Given the description of an element on the screen output the (x, y) to click on. 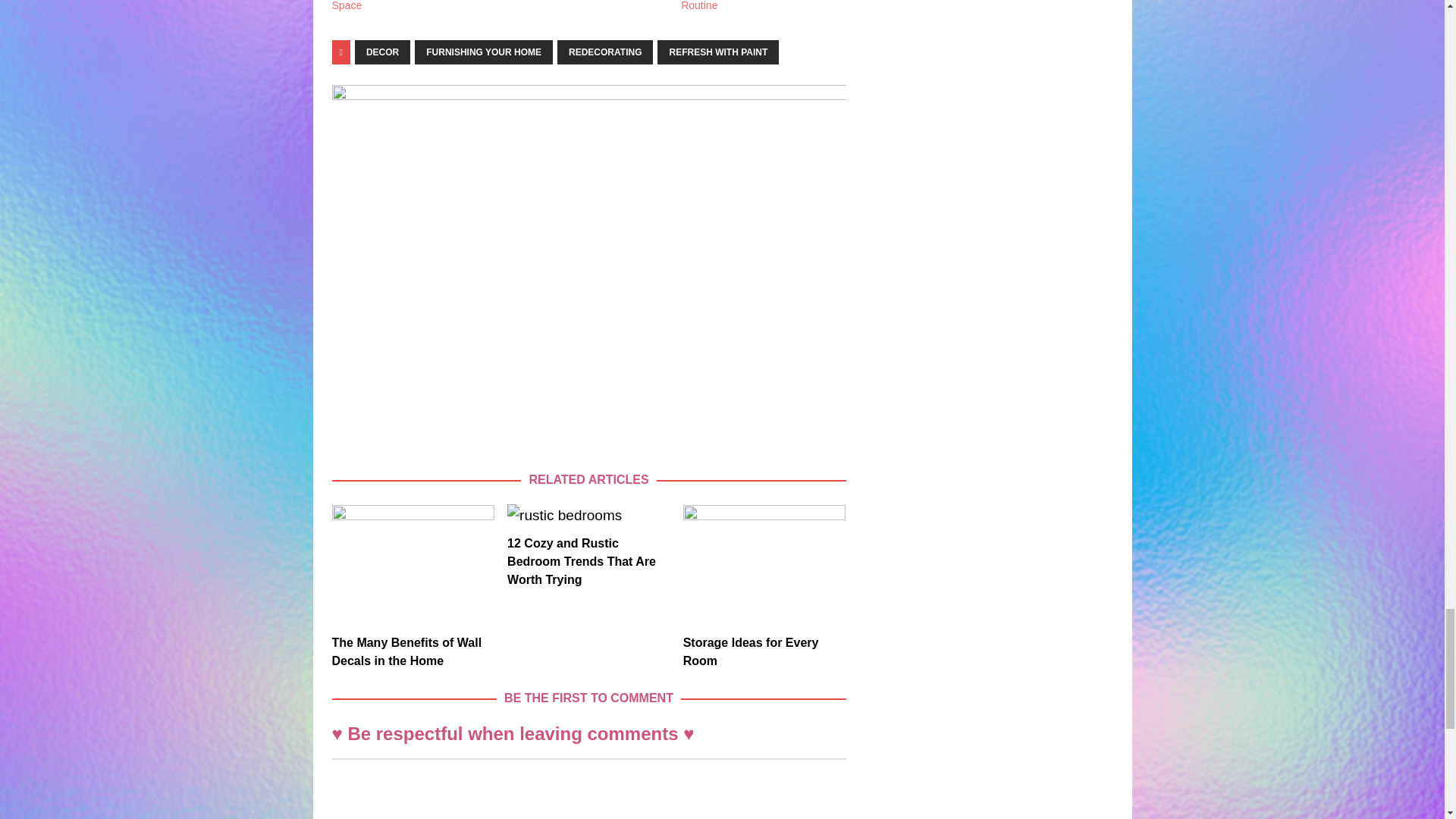
The Many Benefits of Wall Decals in the Home (406, 651)
Storage Ideas for Every Room (763, 565)
The Many Benefits of Wall Decals in the Home (413, 565)
Home Comfort Mastery: Strategies for a Cozy Living Space (396, 5)
Storage Ideas for Every Room (750, 651)
12 Cozy and Rustic Bedroom Trends That Are Worth Trying (587, 515)
12 Cozy and Rustic Bedroom Trends That Are Worth Trying (581, 561)
